Given the description of an element on the screen output the (x, y) to click on. 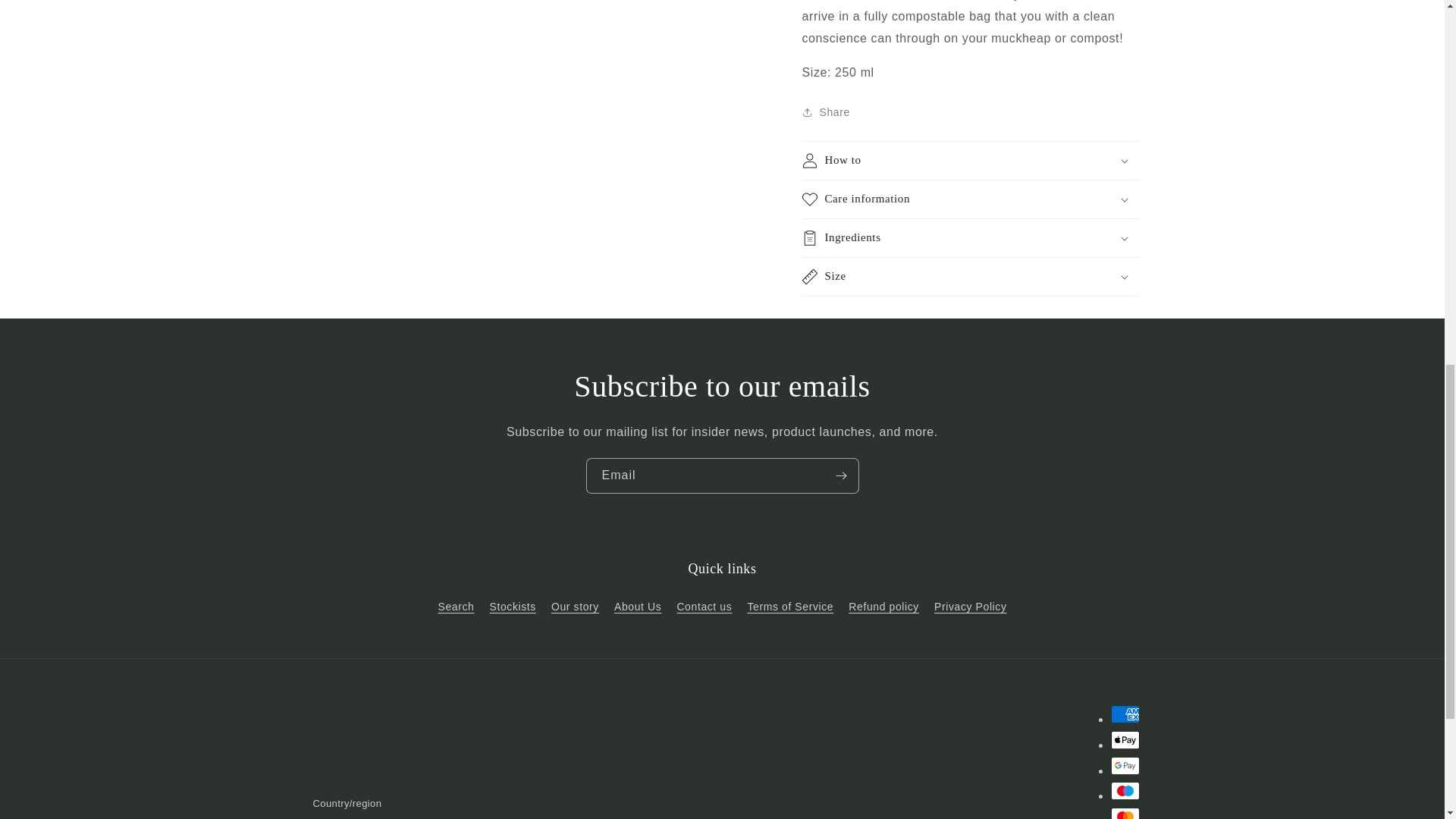
American Express (1123, 714)
